Given the description of an element on the screen output the (x, y) to click on. 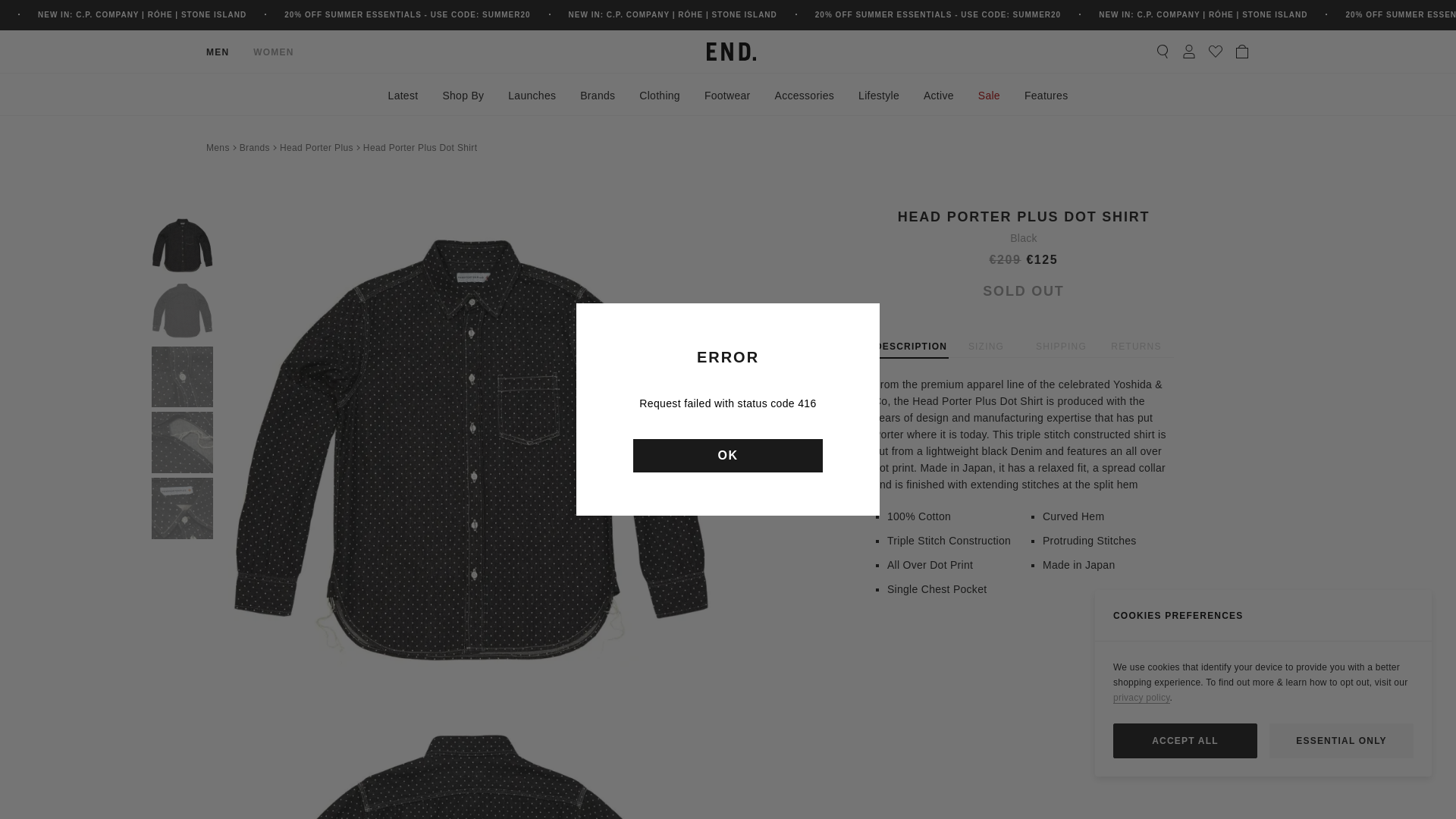
OK (727, 455)
Head Porter Plus Dot Shirt (419, 147)
ESSENTIAL ONLY (1341, 740)
privacy policy (1141, 697)
Mens (218, 147)
Brands (254, 147)
ACCEPT ALL (1185, 740)
Head Porter Plus (316, 147)
